Given the description of an element on the screen output the (x, y) to click on. 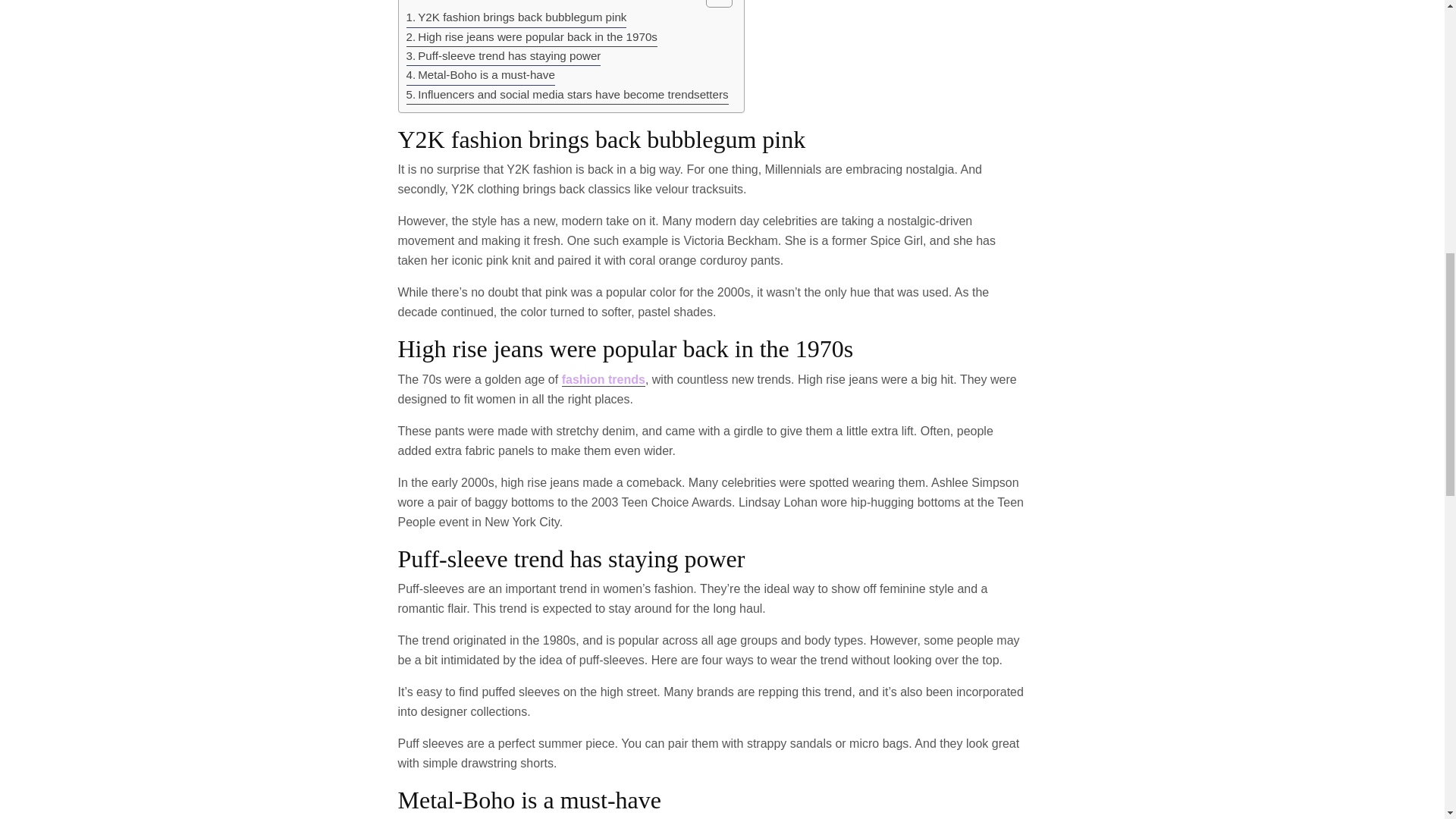
fashion trends (603, 379)
Influencers and social media stars have become trendsetters (567, 94)
High rise jeans were popular back in the 1970s (532, 36)
Puff-sleeve trend has staying power (503, 56)
Puff-sleeve trend has staying power (503, 56)
Metal-Boho is a must-have (480, 75)
Influencers and social media stars have become trendsetters (567, 94)
High rise jeans were popular back in the 1970s (532, 36)
Y2K fashion brings back bubblegum pink (516, 17)
Y2K fashion brings back bubblegum pink (516, 17)
